Given the description of an element on the screen output the (x, y) to click on. 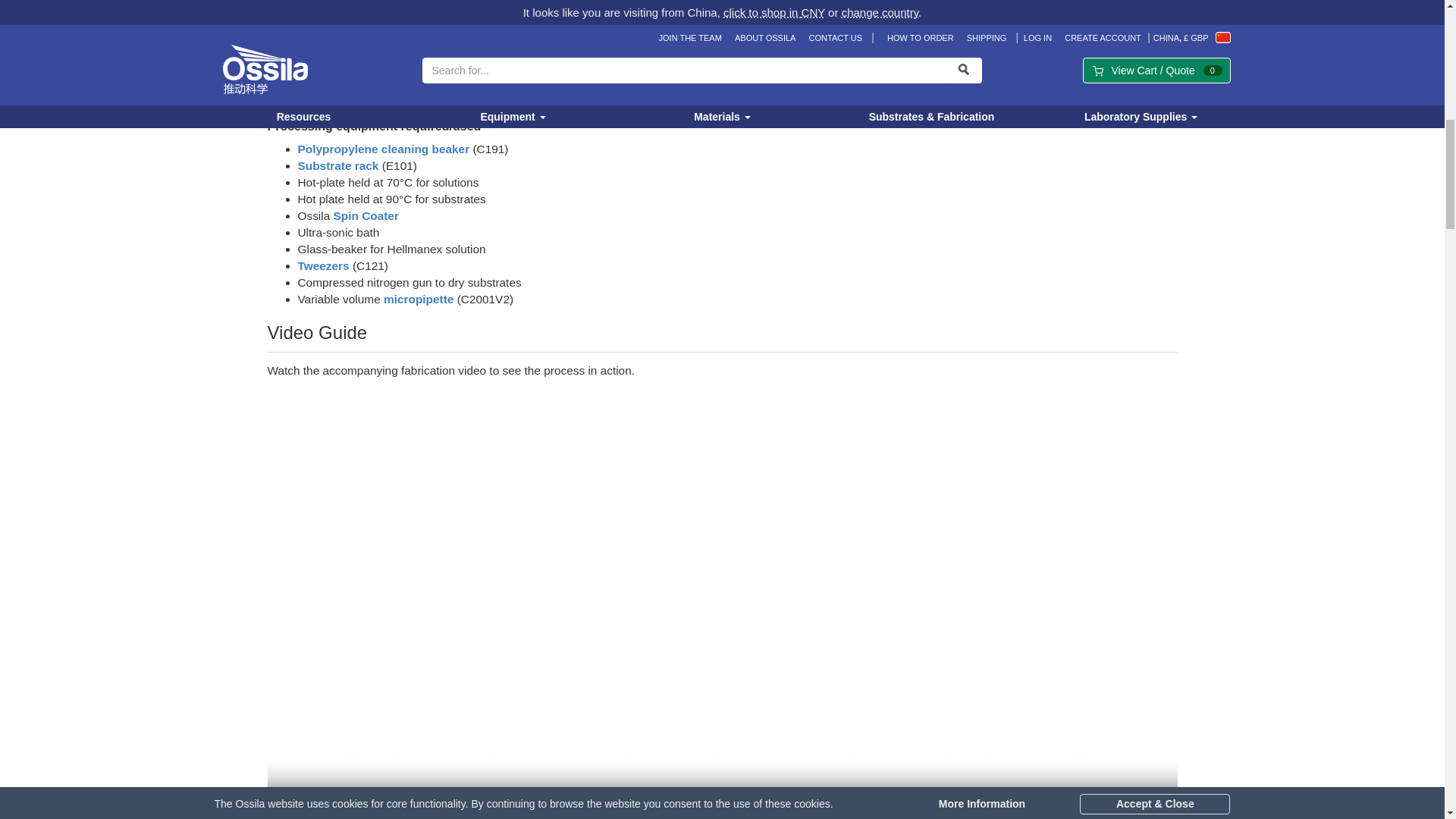
Encapsulation epoxy (355, 69)
Pipette Tips (345, 103)
Encapsulation glass coverslips (343, 86)
Annealing and cleaning beaker (382, 148)
Cleanroom swabs (382, 4)
Low price Ossila Spin Coater (365, 215)
Micropipettes with compatible tips (418, 298)
Substrate Rack for Cleaning and Storage (337, 164)
